Given the description of an element on the screen output the (x, y) to click on. 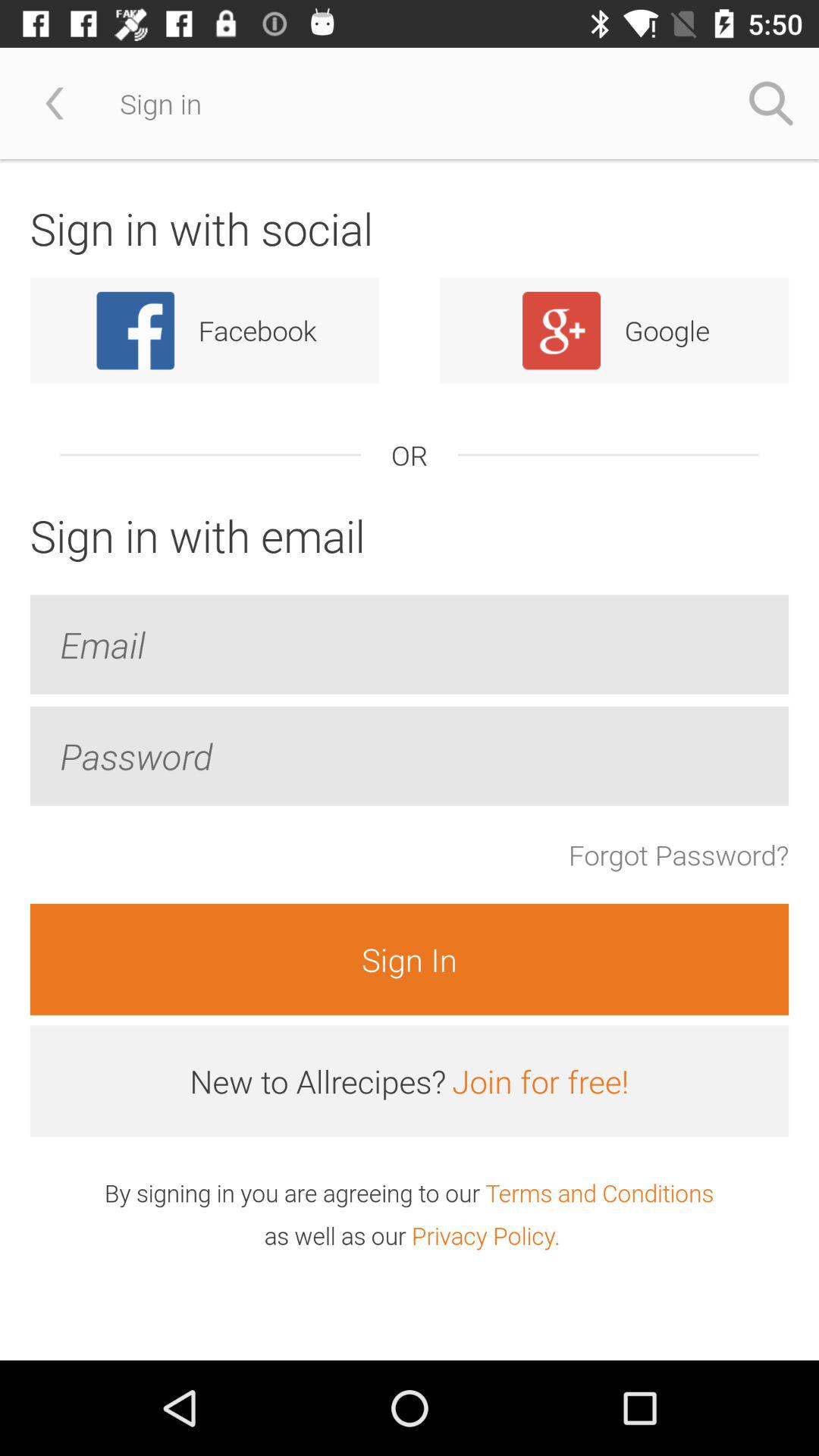
select the item next to the as well as icon (485, 1235)
